Given the description of an element on the screen output the (x, y) to click on. 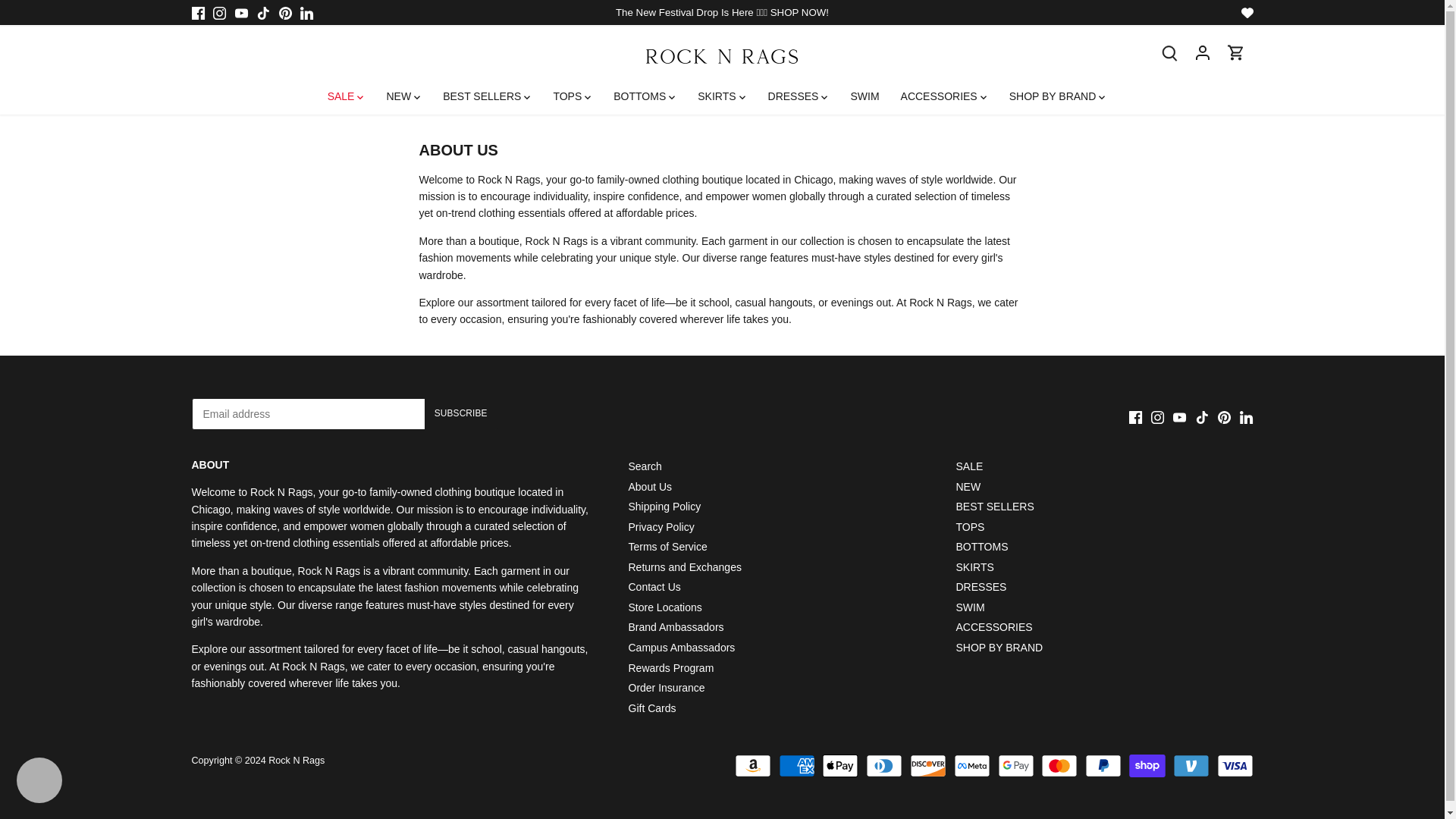
Facebook (1135, 417)
TOPS (566, 95)
Youtube (240, 12)
Instagram (218, 12)
BEST SELLERS (481, 95)
Subscribe (461, 413)
SALE (346, 95)
Pinterest (285, 12)
Facebook (196, 12)
NEW (398, 95)
